Given the description of an element on the screen output the (x, y) to click on. 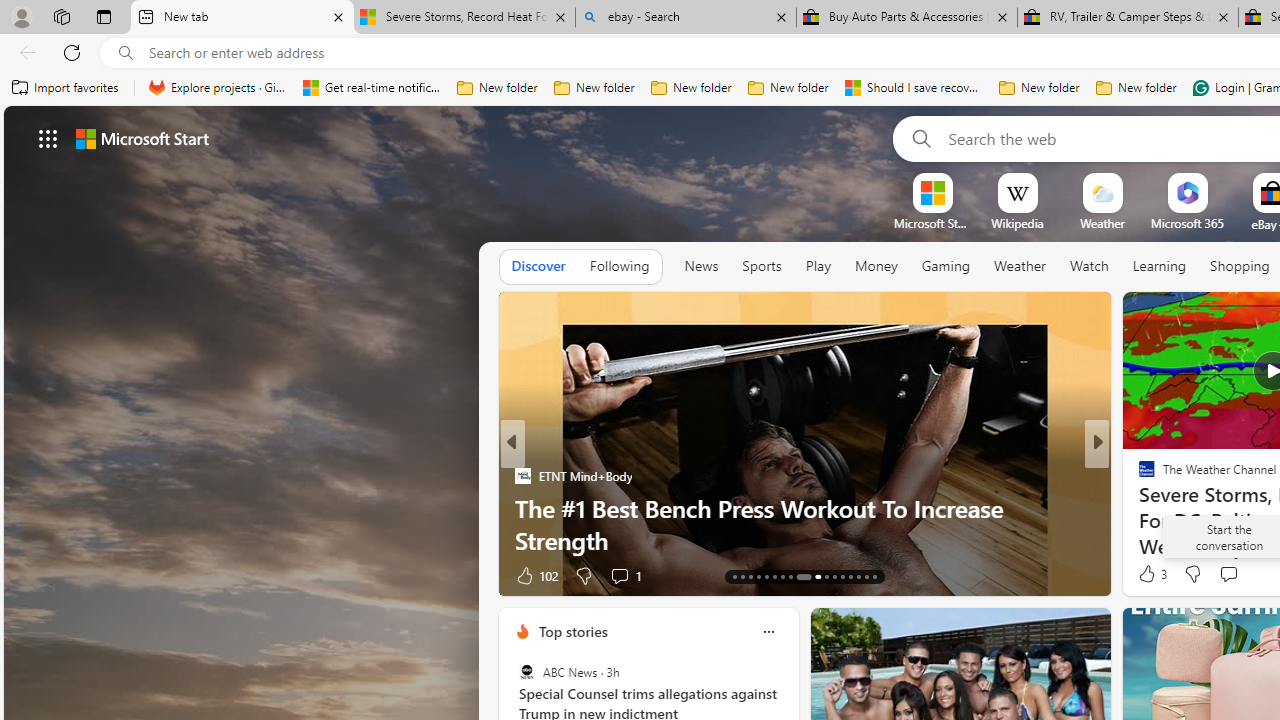
NBC News (1138, 475)
